Given the description of an element on the screen output the (x, y) to click on. 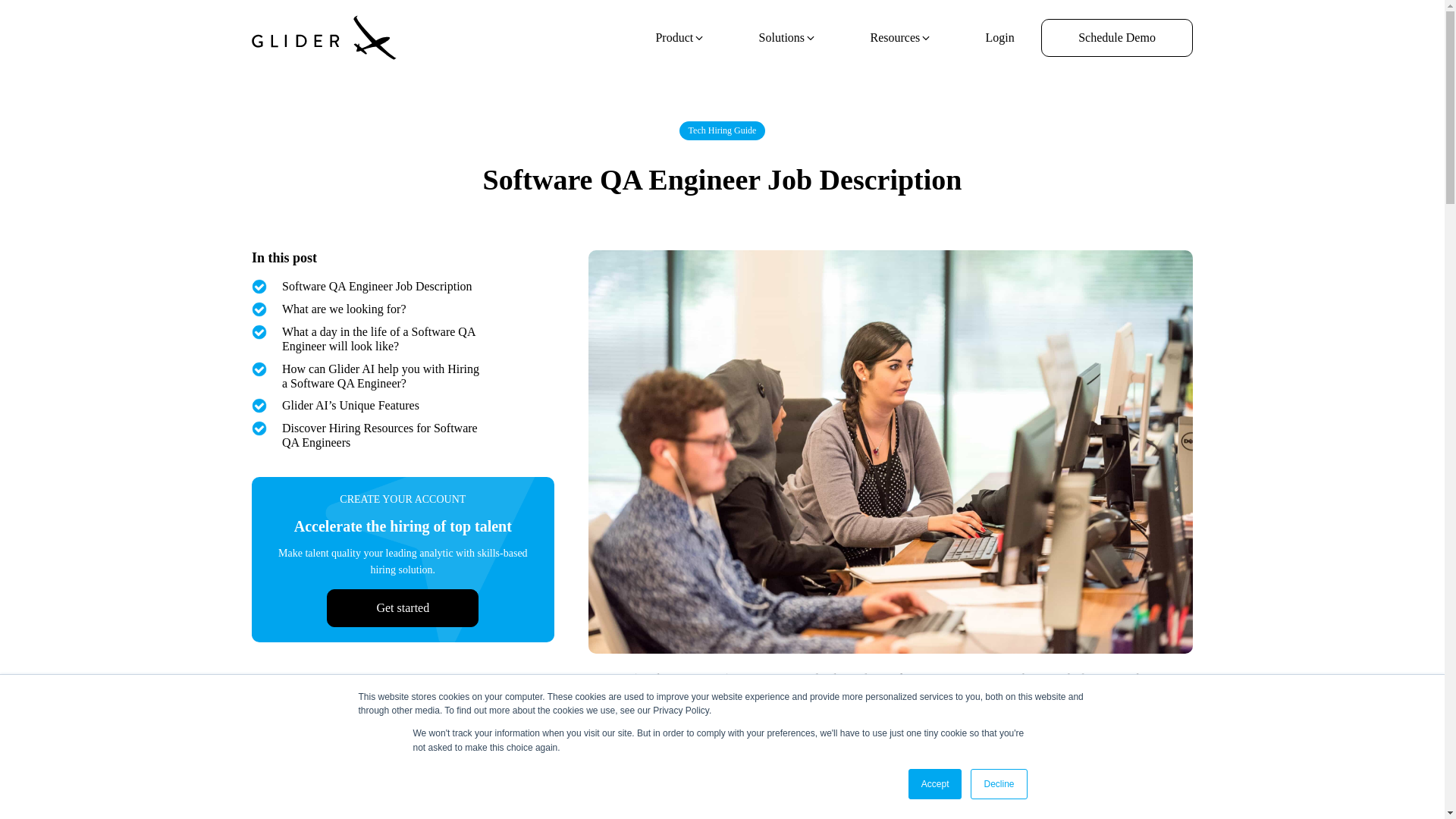
Decline (998, 784)
Accept (935, 784)
Solutions (787, 37)
Product (680, 37)
Resources (900, 37)
